Given the description of an element on the screen output the (x, y) to click on. 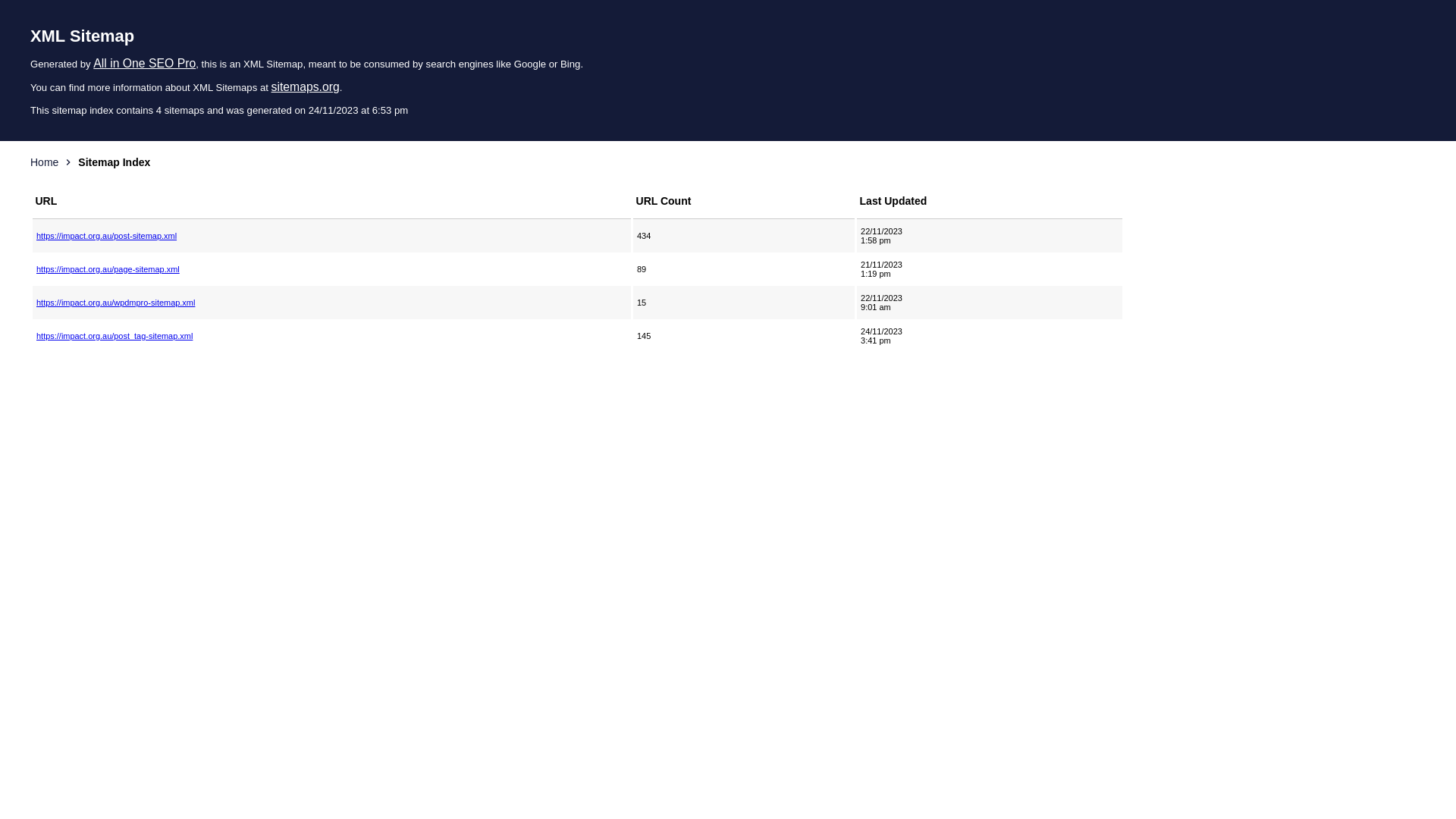
https://impact.org.au/post-sitemap.xml Element type: text (331, 235)
All in One SEO Pro Element type: text (144, 62)
sitemaps.org Element type: text (305, 86)
Home Element type: text (44, 162)
https://impact.org.au/post_tag-sitemap.xml Element type: text (331, 335)
https://impact.org.au/page-sitemap.xml Element type: text (331, 268)
https://impact.org.au/wpdmpro-sitemap.xml Element type: text (331, 302)
